Given the description of an element on the screen output the (x, y) to click on. 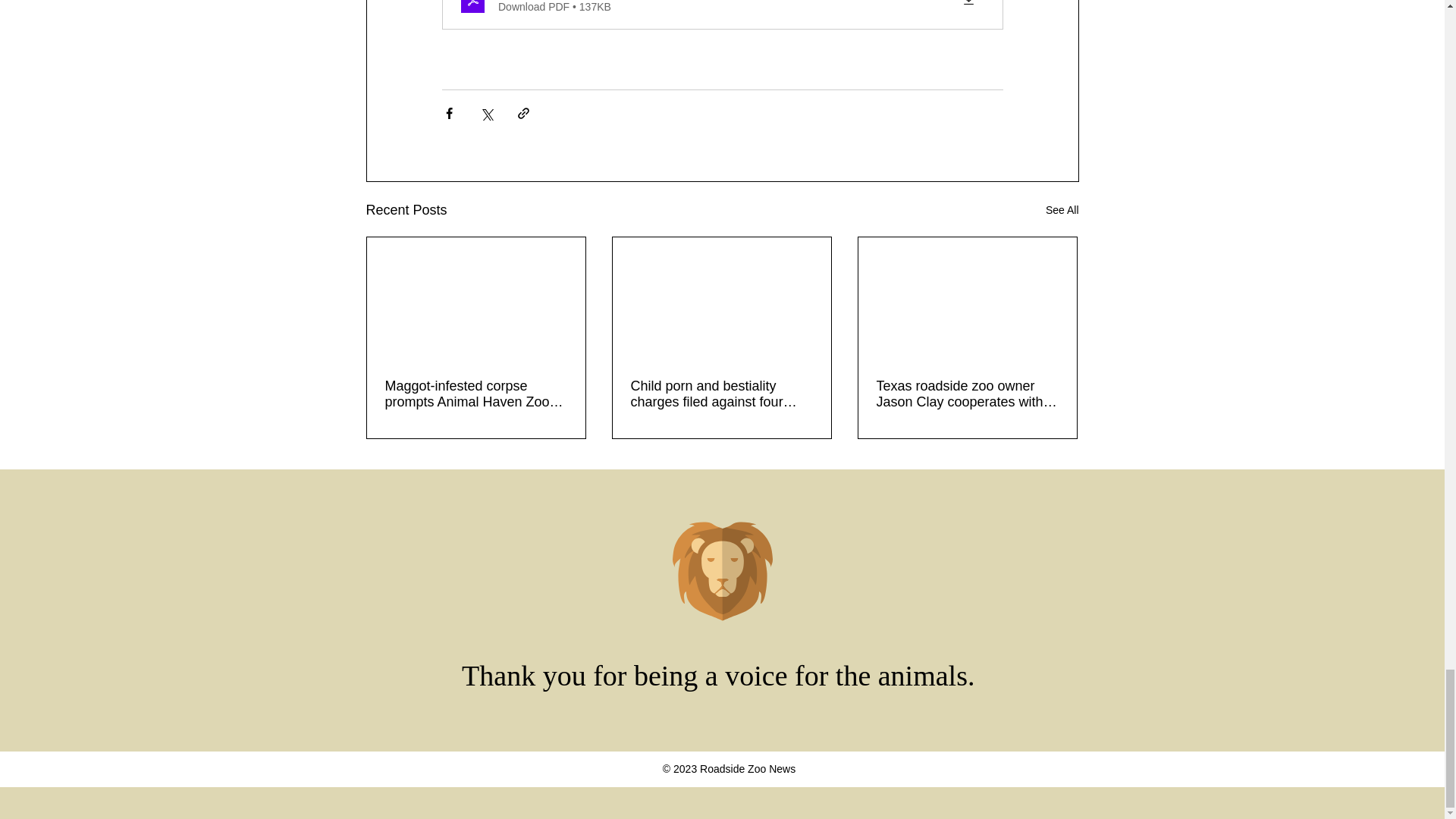
Maggot-infested corpse prompts Animal Haven Zoo violation (476, 394)
See All (1061, 210)
